Given the description of an element on the screen output the (x, y) to click on. 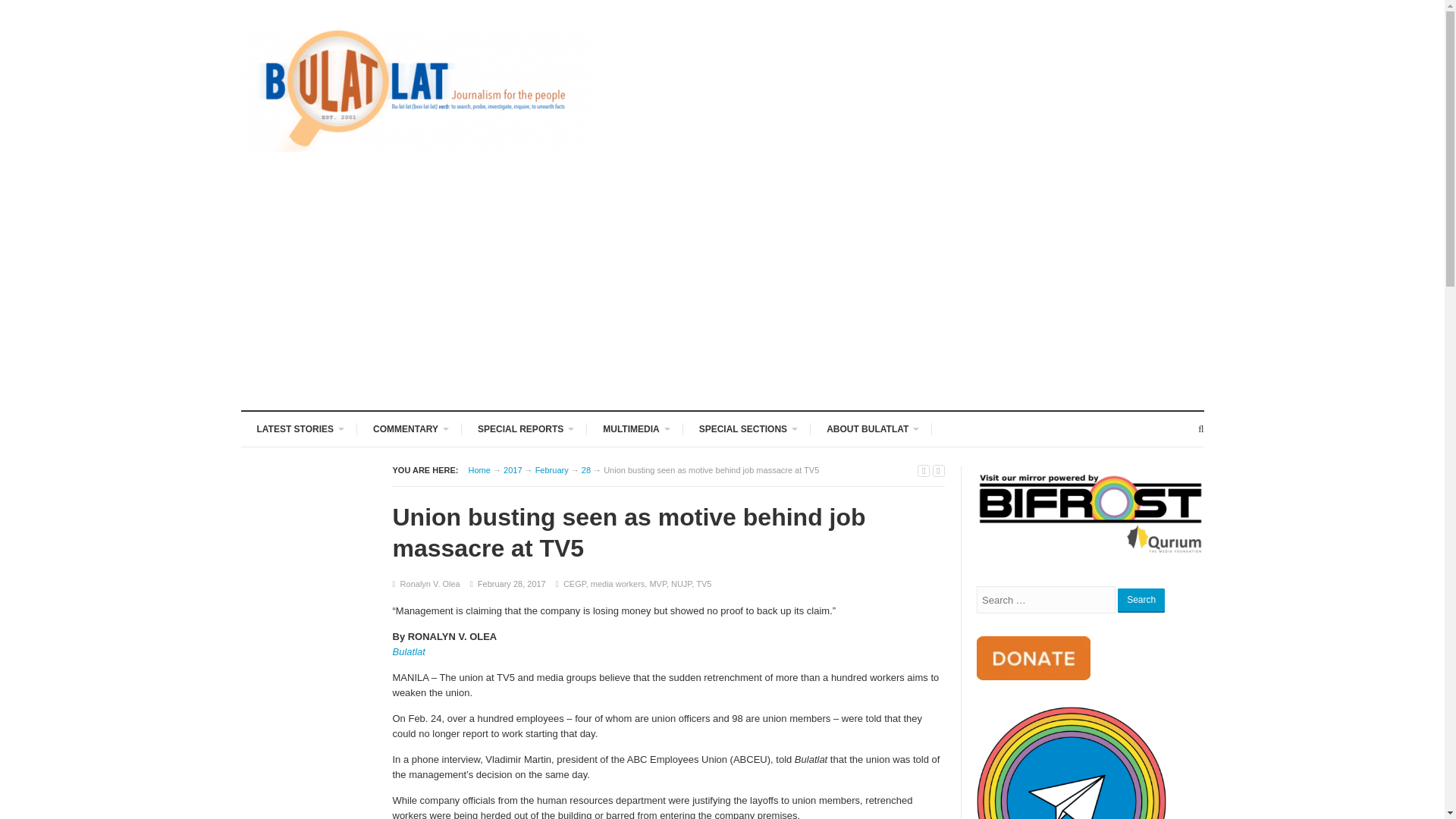
MULTIMEDIA (634, 428)
SPECIAL REPORTS (523, 428)
Tuesday, February 28, 2017, 10:42 am (511, 583)
COMMENTARY (409, 428)
SPECIAL SECTIONS (746, 428)
Bulatlat (479, 470)
LATEST STORIES (299, 428)
